Given the description of an element on the screen output the (x, y) to click on. 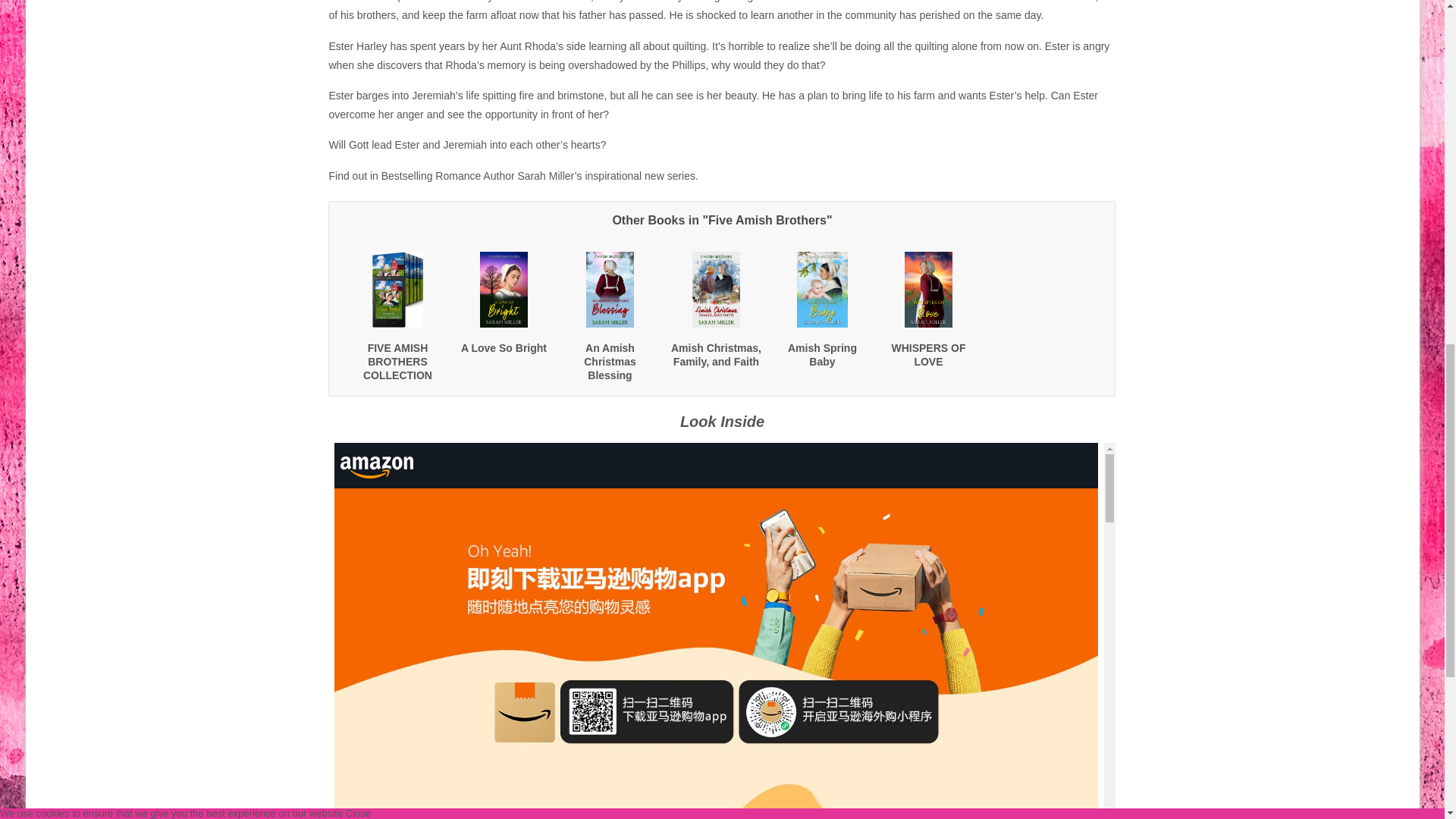
FIVE AMISH BROTHERS COLLECTION (397, 361)
A Love So Bright (504, 347)
An Amish Christmas Blessing (608, 361)
